Given the description of an element on the screen output the (x, y) to click on. 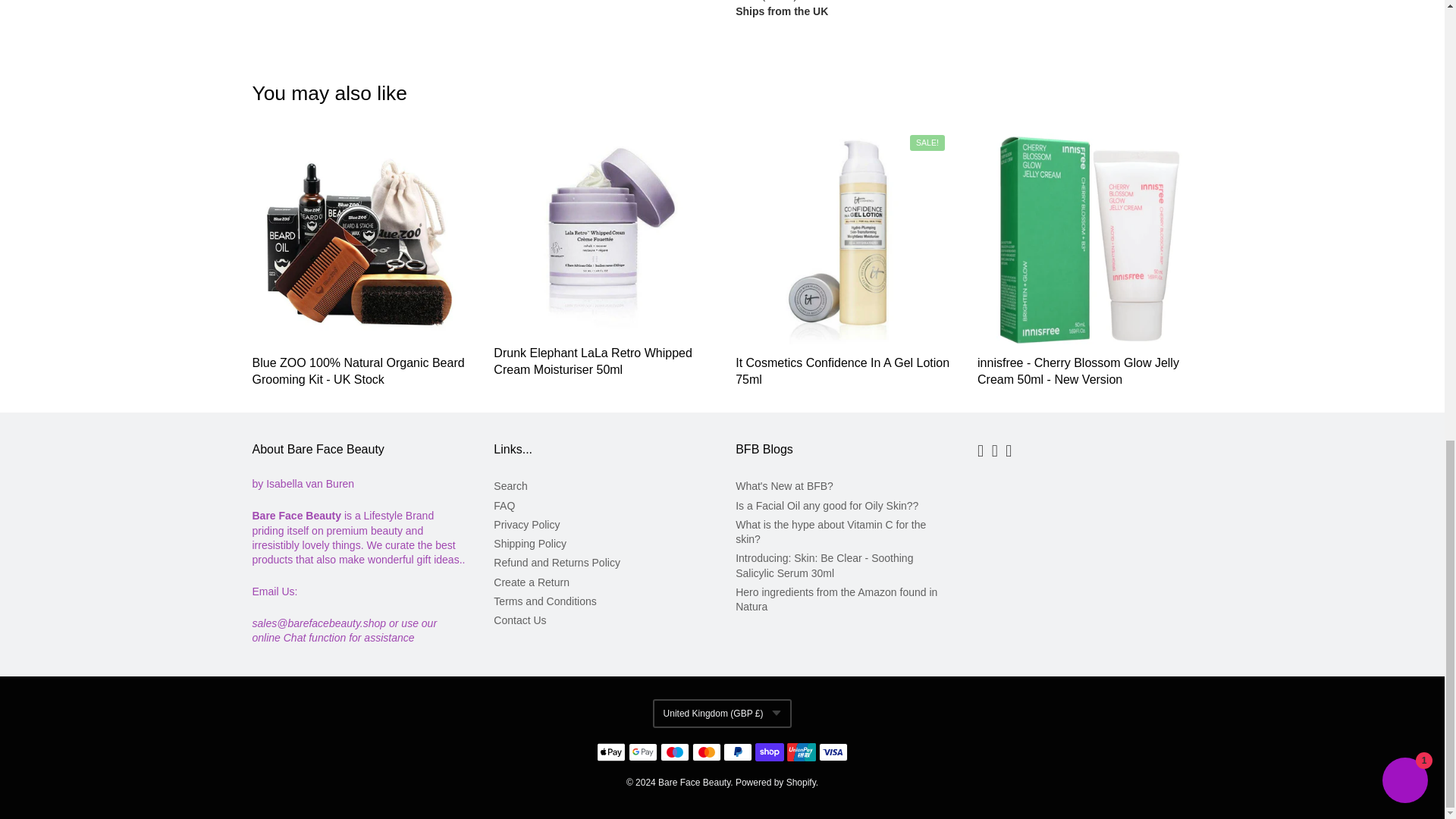
Union Pay (801, 751)
Drunk Elephant LaLa Retro Whipped Cream Moisturiser 50ml (593, 360)
Shop Pay (769, 751)
It Cosmetics Confidence In A Gel Lotion 75ml (842, 370)
Visa (832, 751)
Maestro (674, 751)
Mastercard (706, 751)
PayPal (737, 751)
Apple Pay (611, 751)
Google Pay (643, 751)
